Given the description of an element on the screen output the (x, y) to click on. 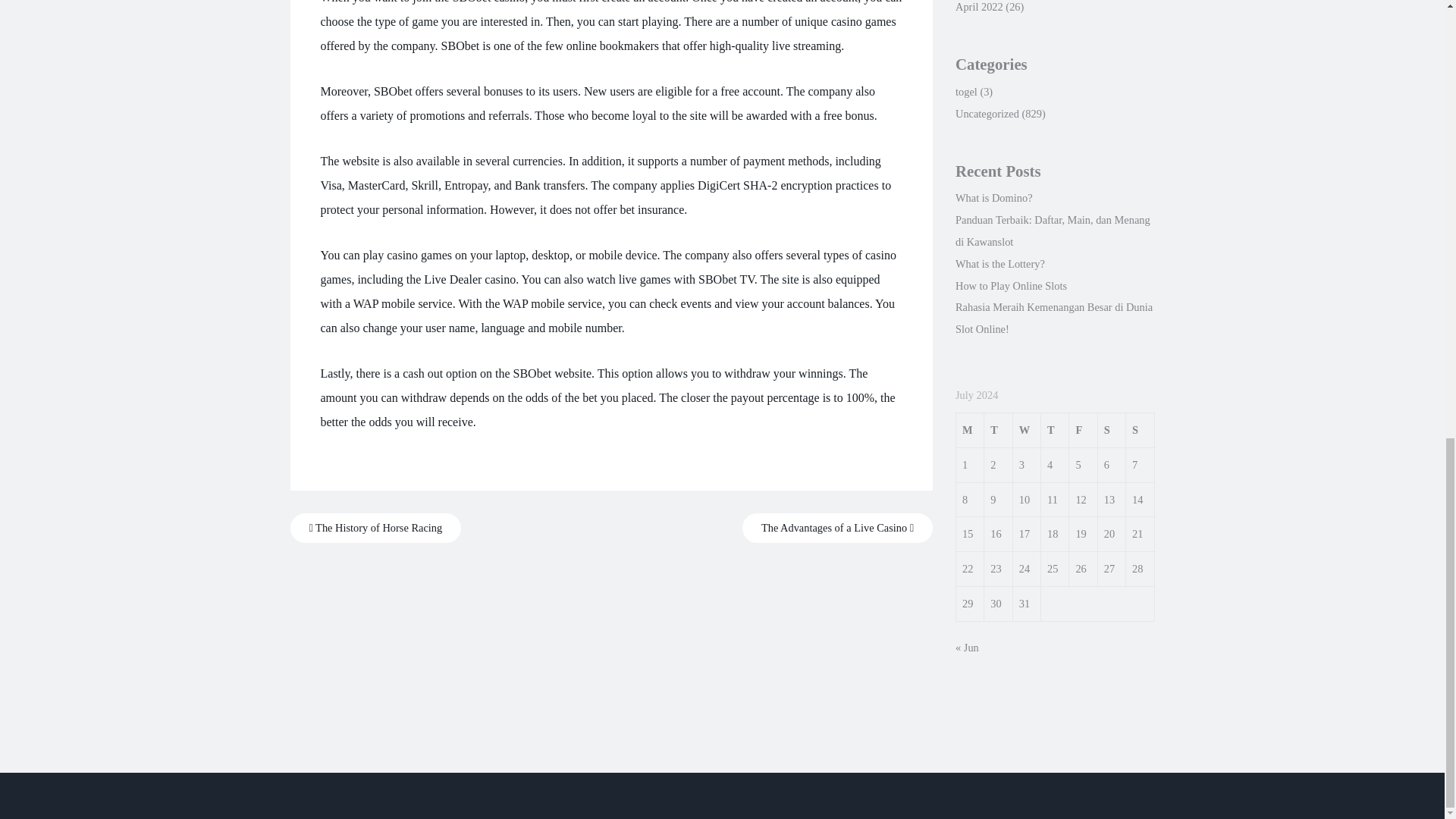
togel (965, 91)
Monday (969, 429)
Saturday (1111, 429)
Wednesday (1026, 429)
Tuesday (997, 429)
Thursday (1054, 429)
Friday (1082, 429)
The History of Horse Racing (375, 527)
April 2022 (979, 6)
The Advantages of a Live Casino (837, 527)
Sunday (1139, 429)
